Given the description of an element on the screen output the (x, y) to click on. 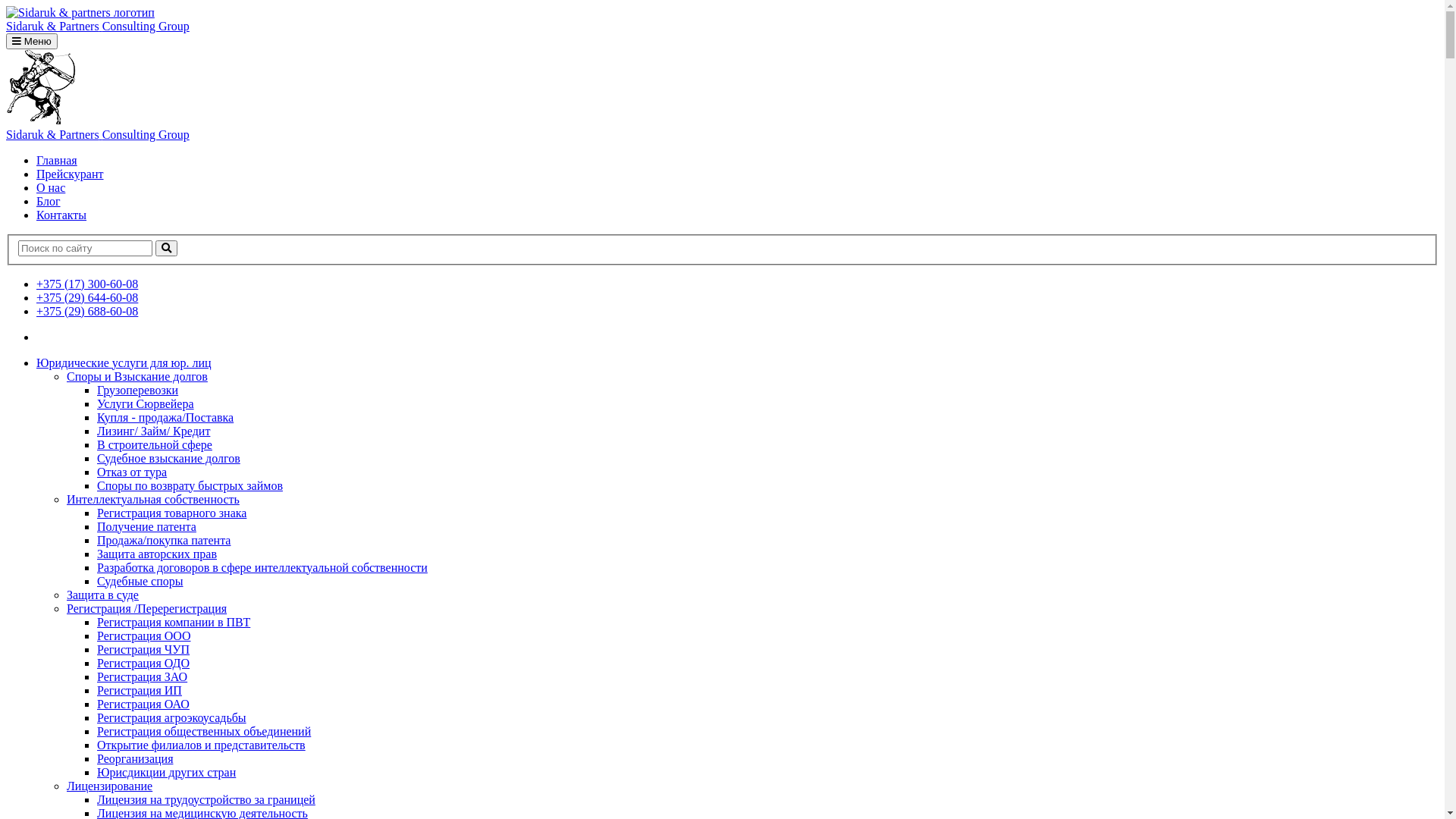
+375 (29) 644-60-08 Element type: text (87, 297)
Sidaruk & Partners Consulting Group Element type: text (722, 127)
+375 (29) 688-60-08 Element type: text (87, 310)
Sidaruk & Partners Consulting Group Element type: text (722, 19)
+375 (17) 300-60-08 Element type: text (87, 283)
